Given the description of an element on the screen output the (x, y) to click on. 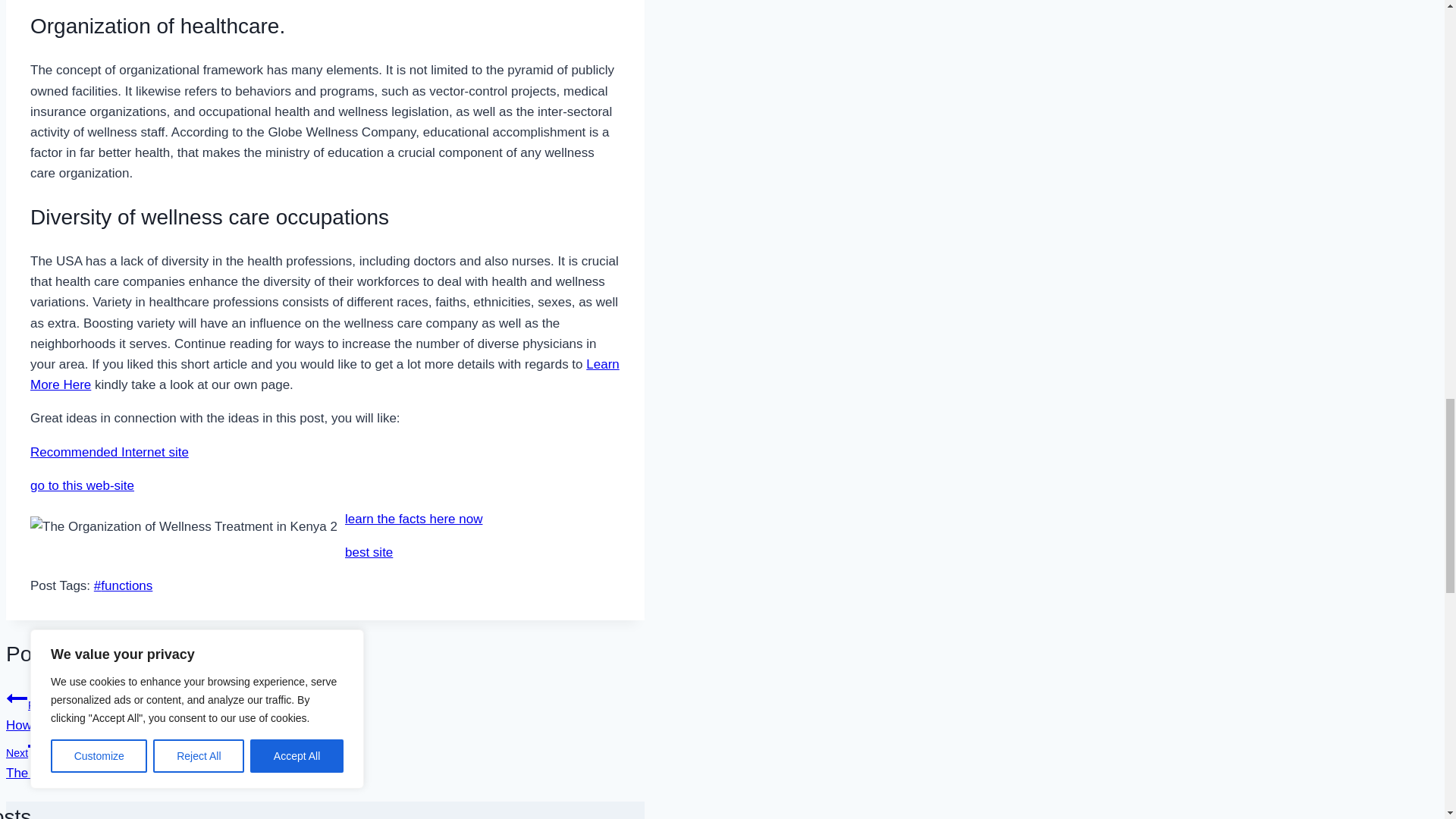
learn the facts here now (413, 518)
Learn More Here (325, 374)
best site (369, 552)
go to this web-site (81, 485)
Continue (37, 745)
Recommended Internet site (109, 451)
Previous (16, 698)
functions (123, 585)
